Given the description of an element on the screen output the (x, y) to click on. 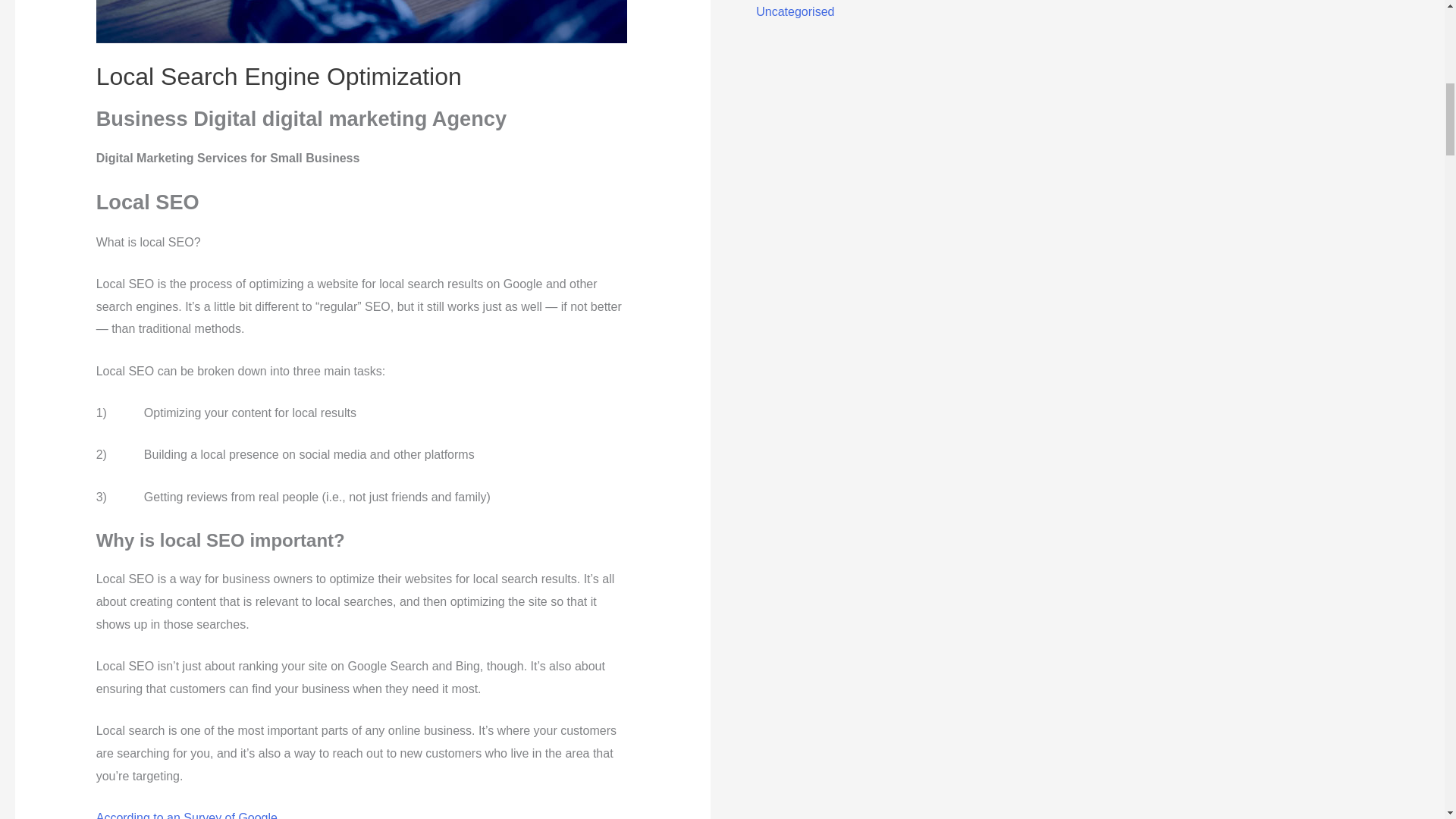
Local Search Engine Optimization (278, 76)
According to an Survey of Google (187, 815)
